Given the description of an element on the screen output the (x, y) to click on. 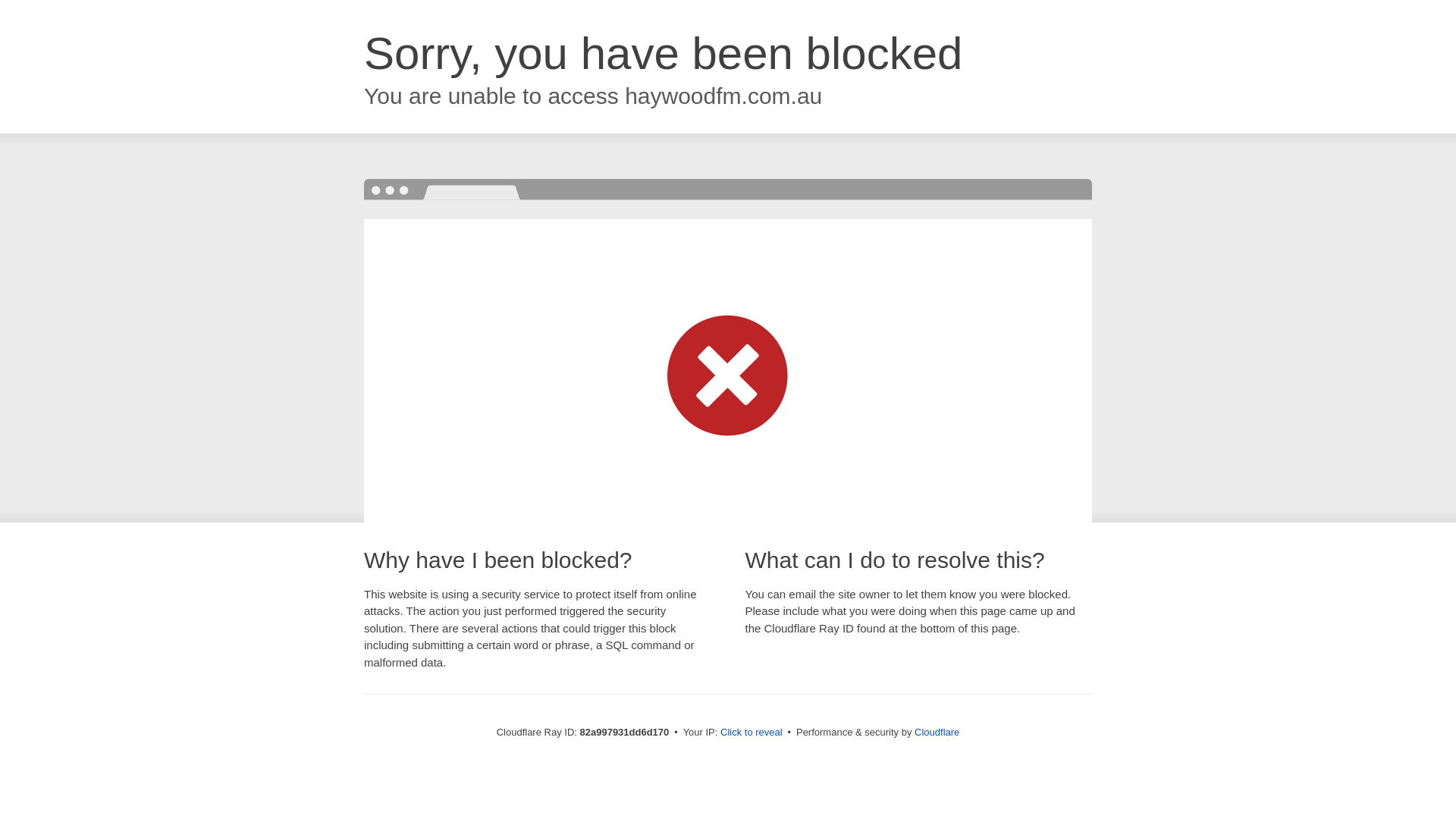
Cloudflare Element type: text (936, 731)
Click to reveal Element type: text (751, 732)
